Given the description of an element on the screen output the (x, y) to click on. 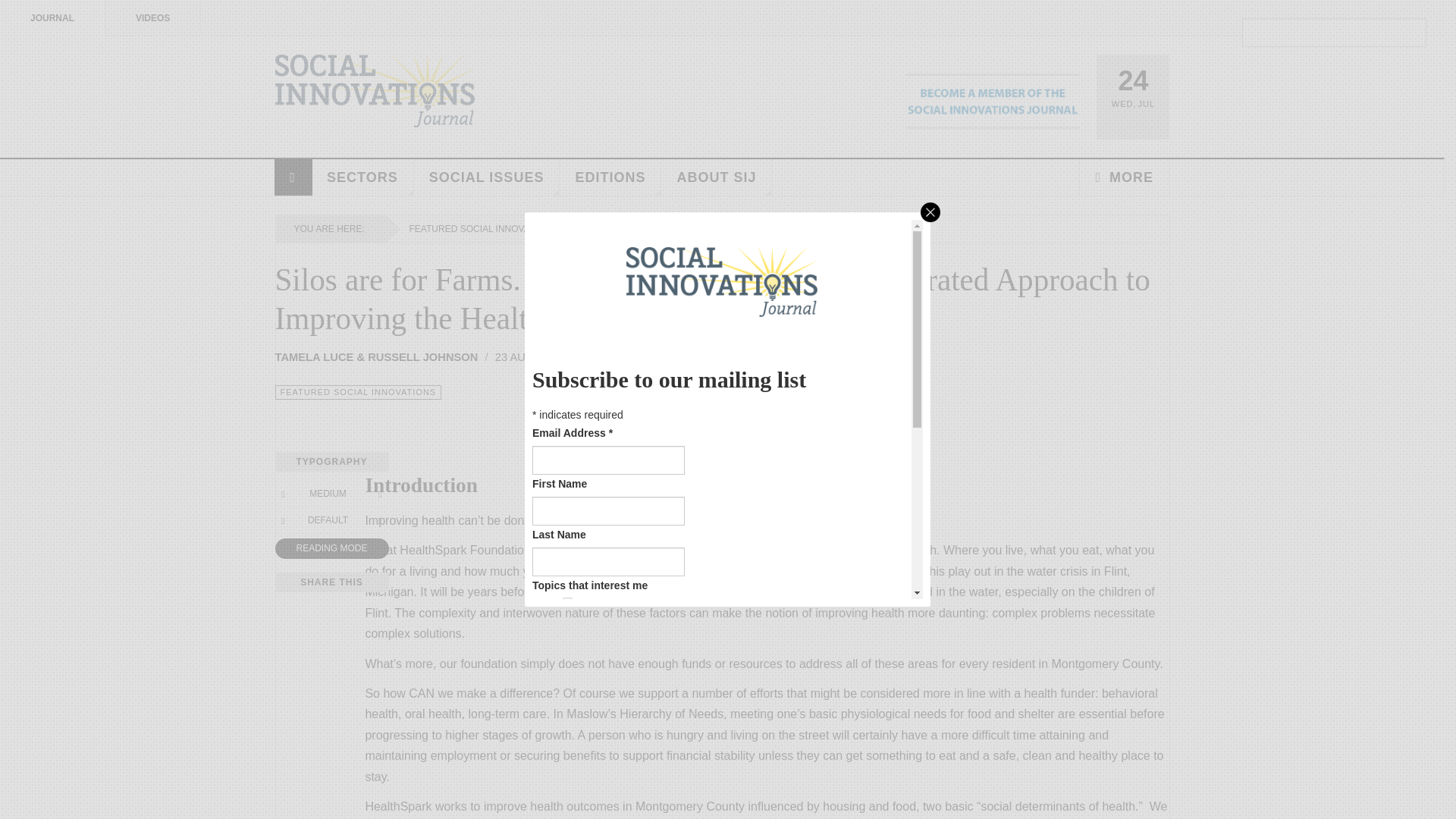
128 (567, 756)
Social Innovation Journal (374, 90)
64 (567, 734)
16 (567, 690)
256 (567, 777)
4 (567, 646)
8 (567, 668)
2 (567, 624)
32 (567, 712)
512 (567, 800)
1 (567, 602)
